Given the description of an element on the screen output the (x, y) to click on. 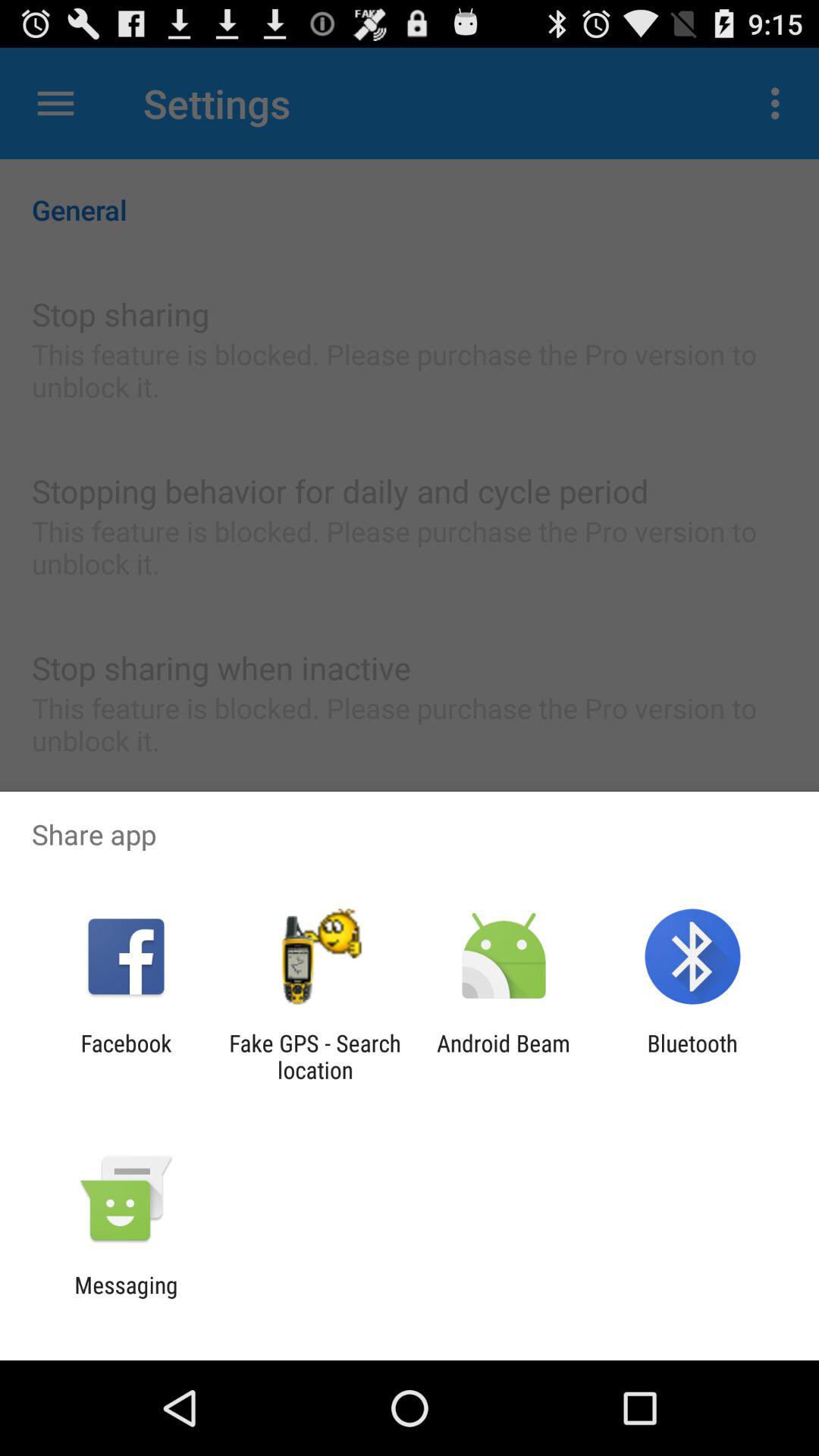
open the item to the left of bluetooth app (503, 1056)
